Given the description of an element on the screen output the (x, y) to click on. 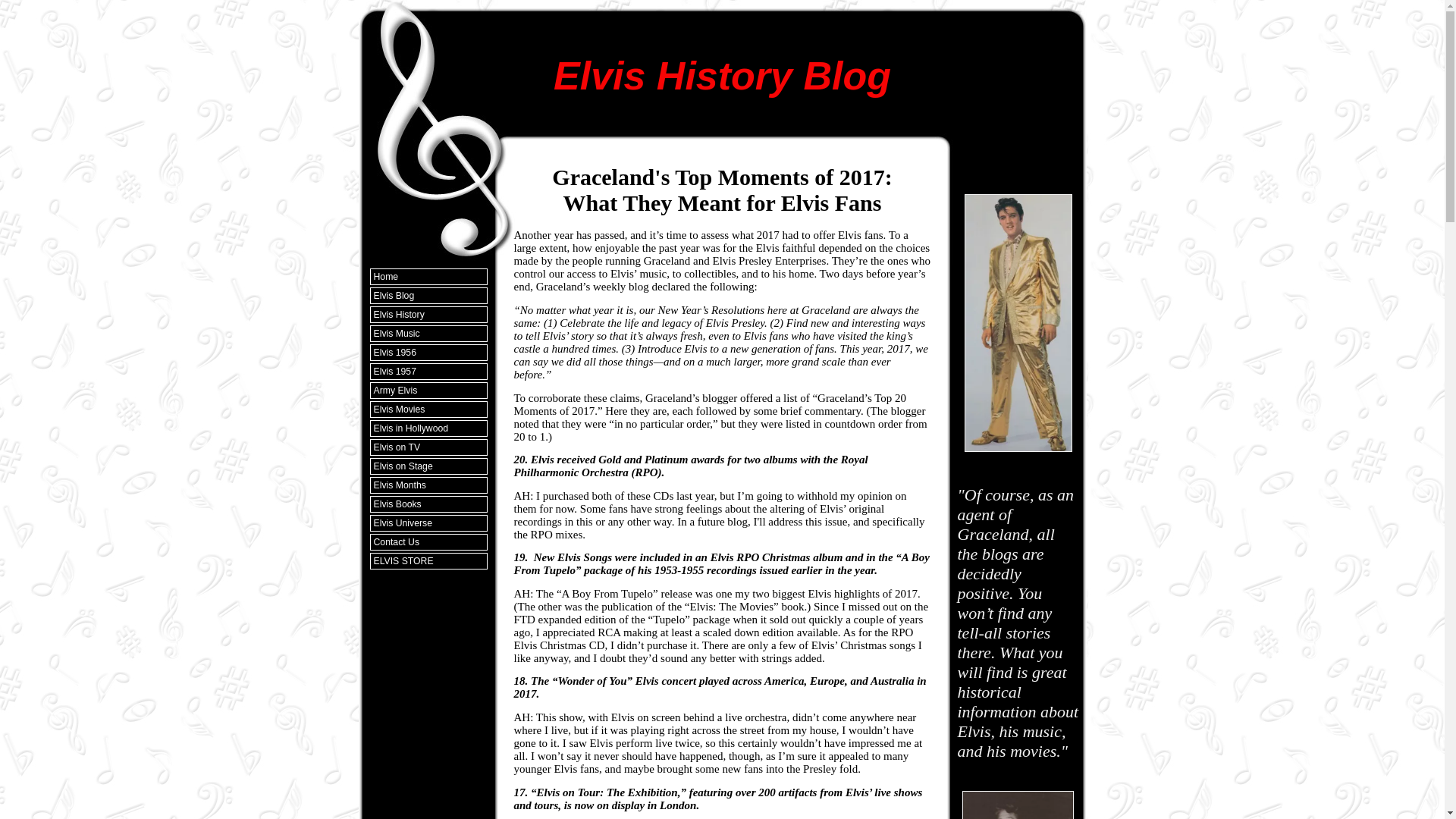
Elvis 1957 (428, 371)
Elvis 1956 (428, 352)
Elvis Books (428, 504)
Elvis on Stage (428, 466)
Home (428, 276)
Elvis on TV (428, 446)
Elvis in Hollywood (428, 428)
Elvis Blog (428, 295)
Elvis on state in 1954 (1018, 805)
Elvis Universe (428, 523)
Elvis Months (428, 484)
Elvis Movies (428, 409)
ELVIS STORE (428, 560)
Elvis History (428, 314)
Contact Us (428, 541)
